Given the description of an element on the screen output the (x, y) to click on. 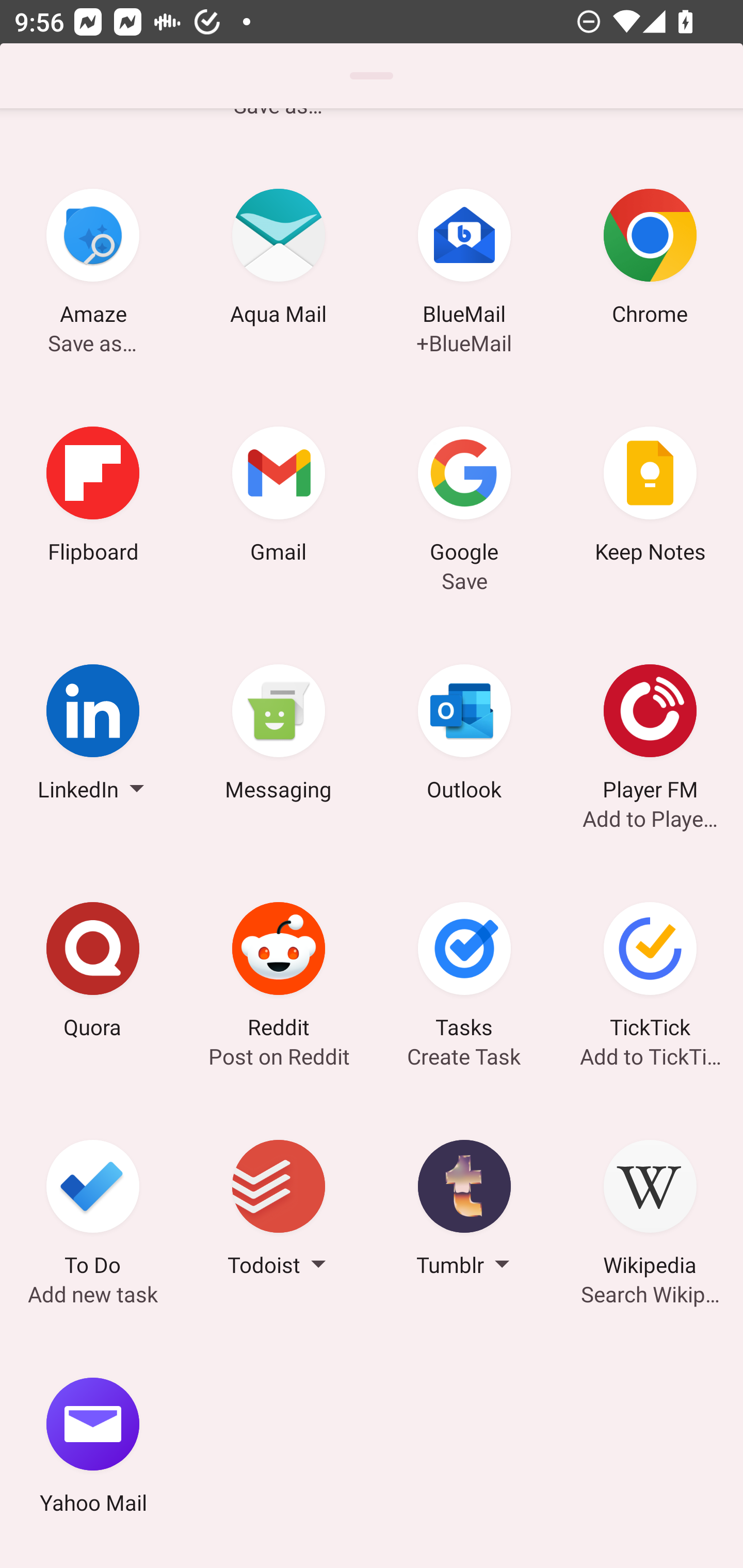
Amaze Save as… (92, 260)
Aqua Mail (278, 260)
BlueMail +BlueMail (464, 260)
Chrome (650, 260)
Flipboard (92, 497)
Gmail (278, 497)
Google Save (464, 497)
Keep Notes (650, 497)
LinkedIn (92, 735)
Messaging (278, 735)
Outlook (464, 735)
Player FM Add to Player FM (650, 735)
Quora (92, 973)
Reddit Post on Reddit (278, 973)
Tasks Create Task (464, 973)
TickTick Add to TickTick (650, 973)
To Do Add new task (92, 1210)
Todoist (278, 1210)
Tumblr (464, 1210)
Wikipedia Search Wikipedia (650, 1210)
Yahoo Mail (92, 1448)
